Given the description of an element on the screen output the (x, y) to click on. 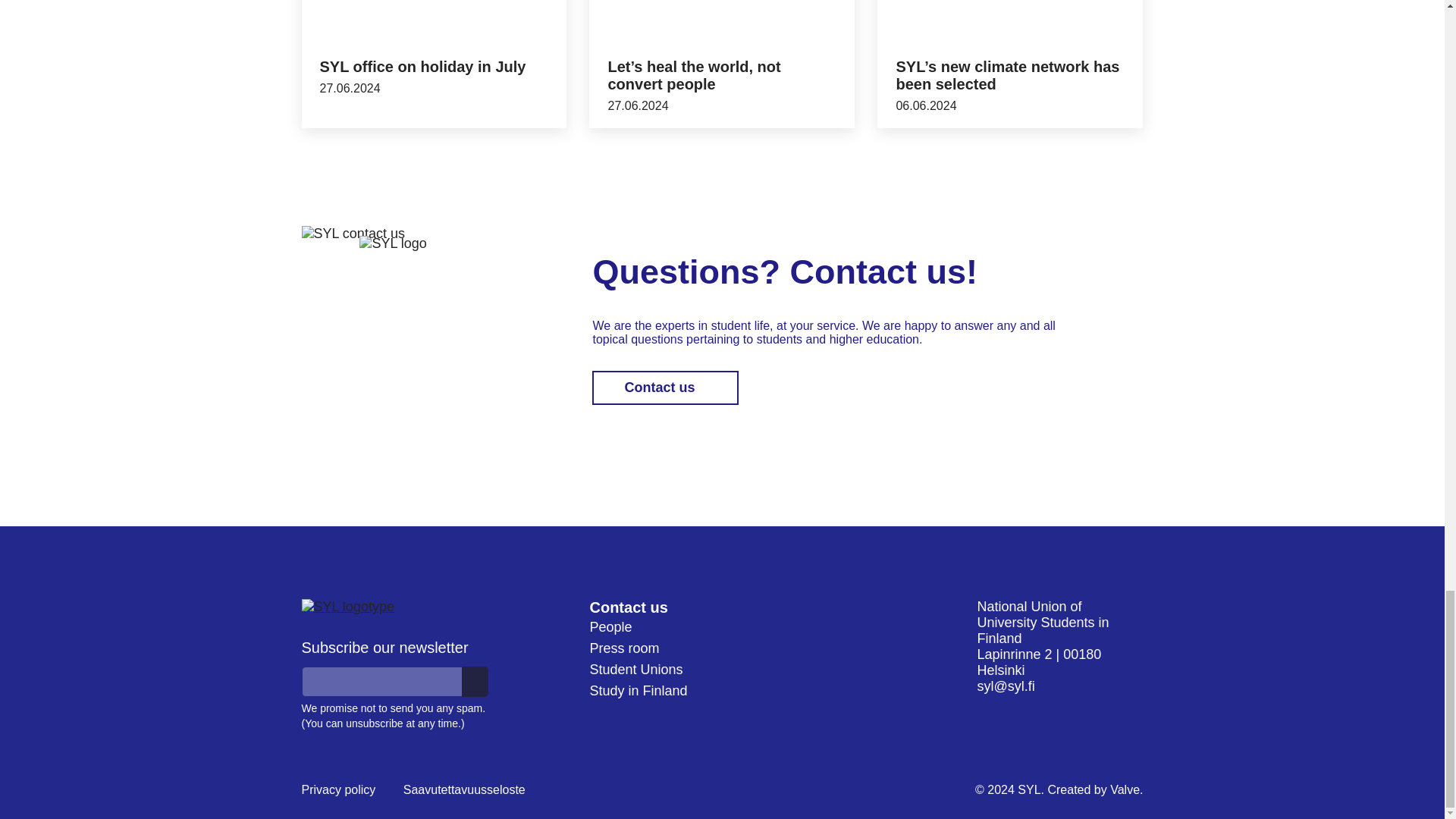
Saavutettavuusseloste (464, 789)
Contact us (665, 387)
People (610, 626)
Valve (1124, 789)
Contact us (627, 606)
Press room (624, 648)
Study in Finland (638, 690)
Student Unions (635, 669)
SYL office on holiday in July (422, 66)
Privacy policy (338, 789)
